Given the description of an element on the screen output the (x, y) to click on. 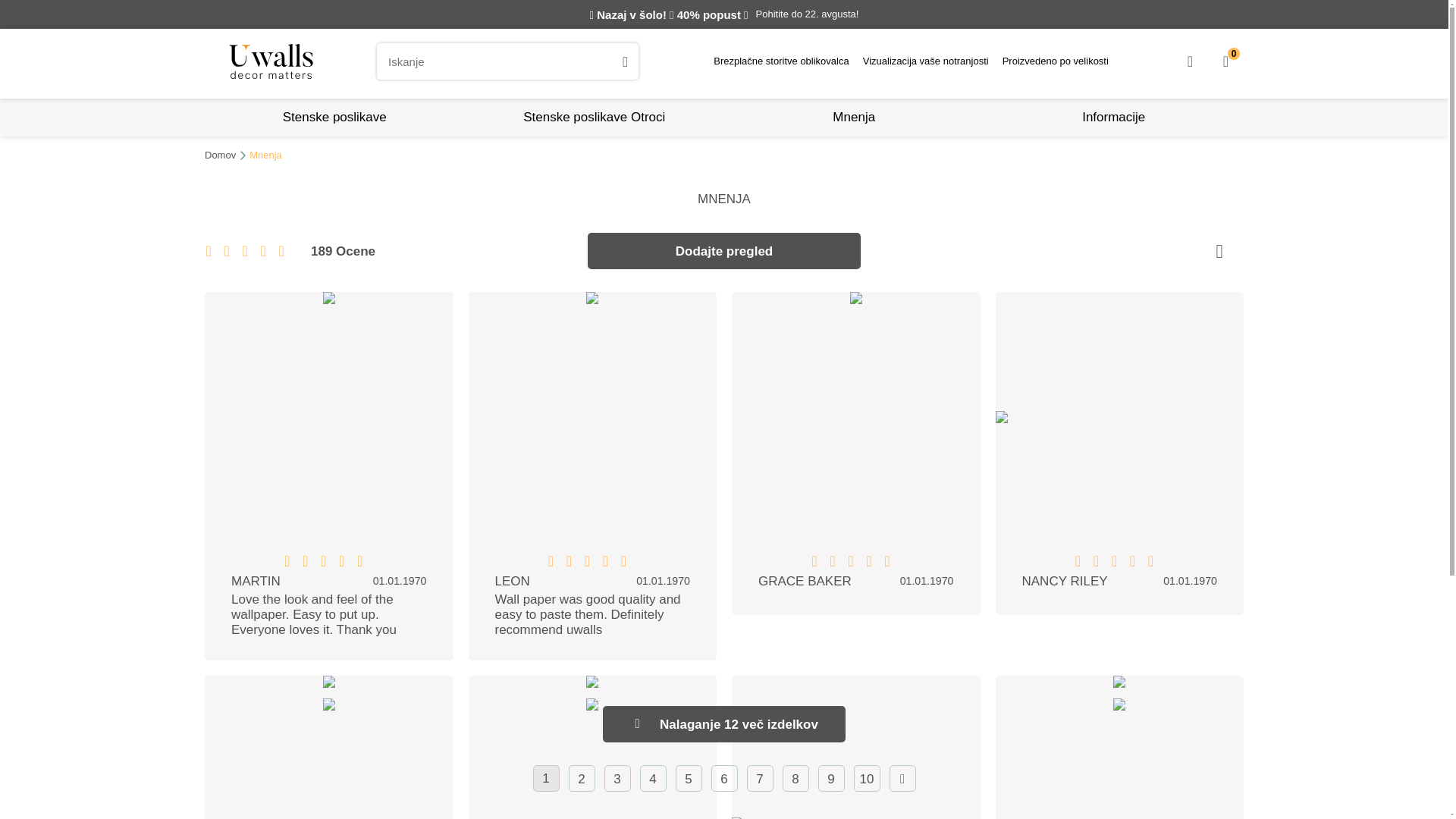
Stenske poslikave (334, 117)
0 (724, 155)
